Given the description of an element on the screen output the (x, y) to click on. 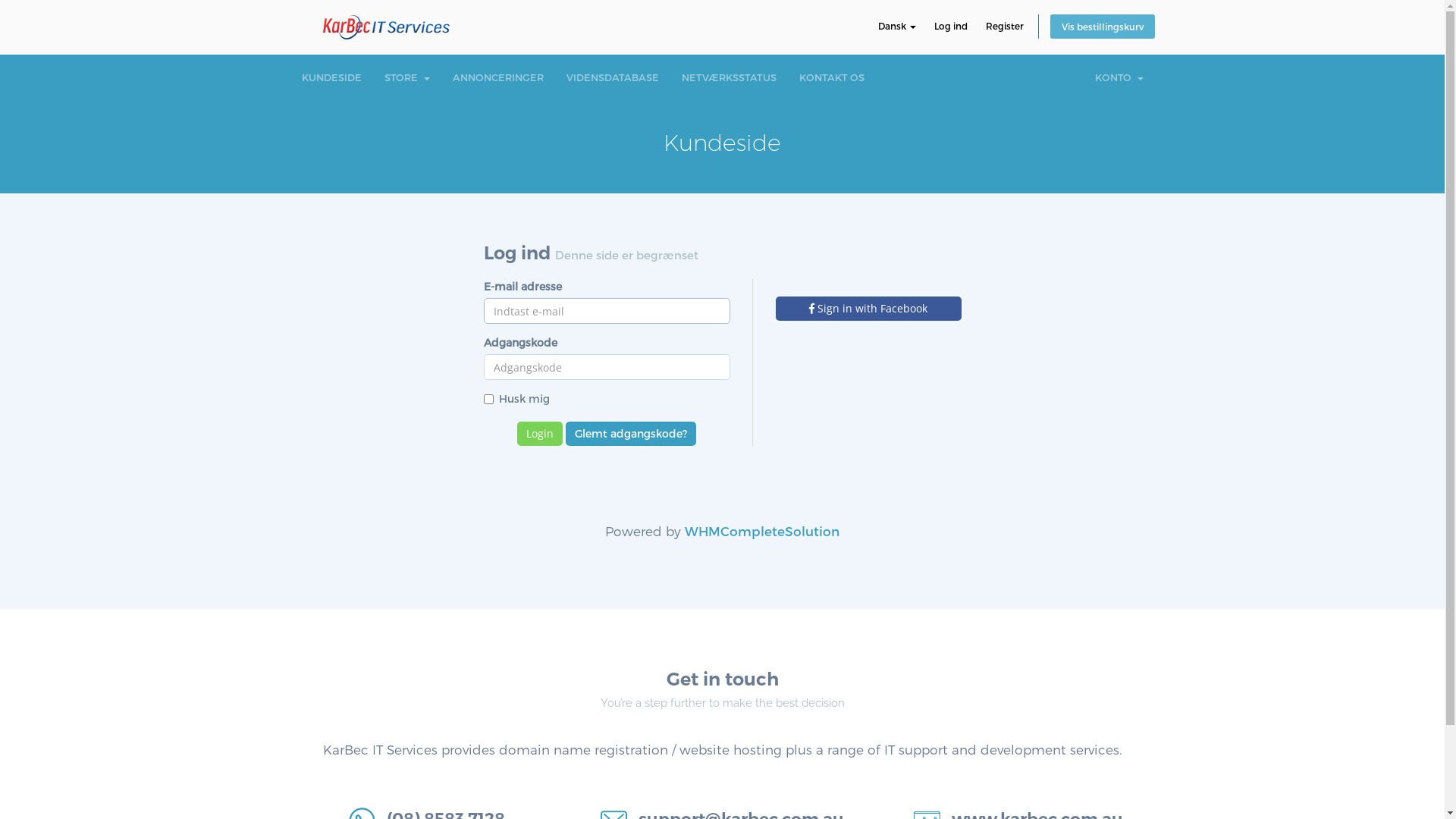
Login Element type: text (539, 433)
Vis bestillingskurv Element type: text (1101, 26)
KONTO   Element type: text (1118, 77)
Glemt adgangskode? Element type: text (630, 433)
ANNONCERINGER Element type: text (498, 77)
Log ind Element type: text (950, 25)
WHMCompleteSolution Element type: text (761, 530)
STORE   Element type: text (407, 77)
KONTAKT OS Element type: text (831, 77)
Sign in with Facebook Element type: text (867, 308)
VIDENSDATABASE Element type: text (612, 77)
Dansk Element type: text (896, 25)
KUNDESIDE Element type: text (330, 77)
Register Element type: text (1004, 25)
